Given the description of an element on the screen output the (x, y) to click on. 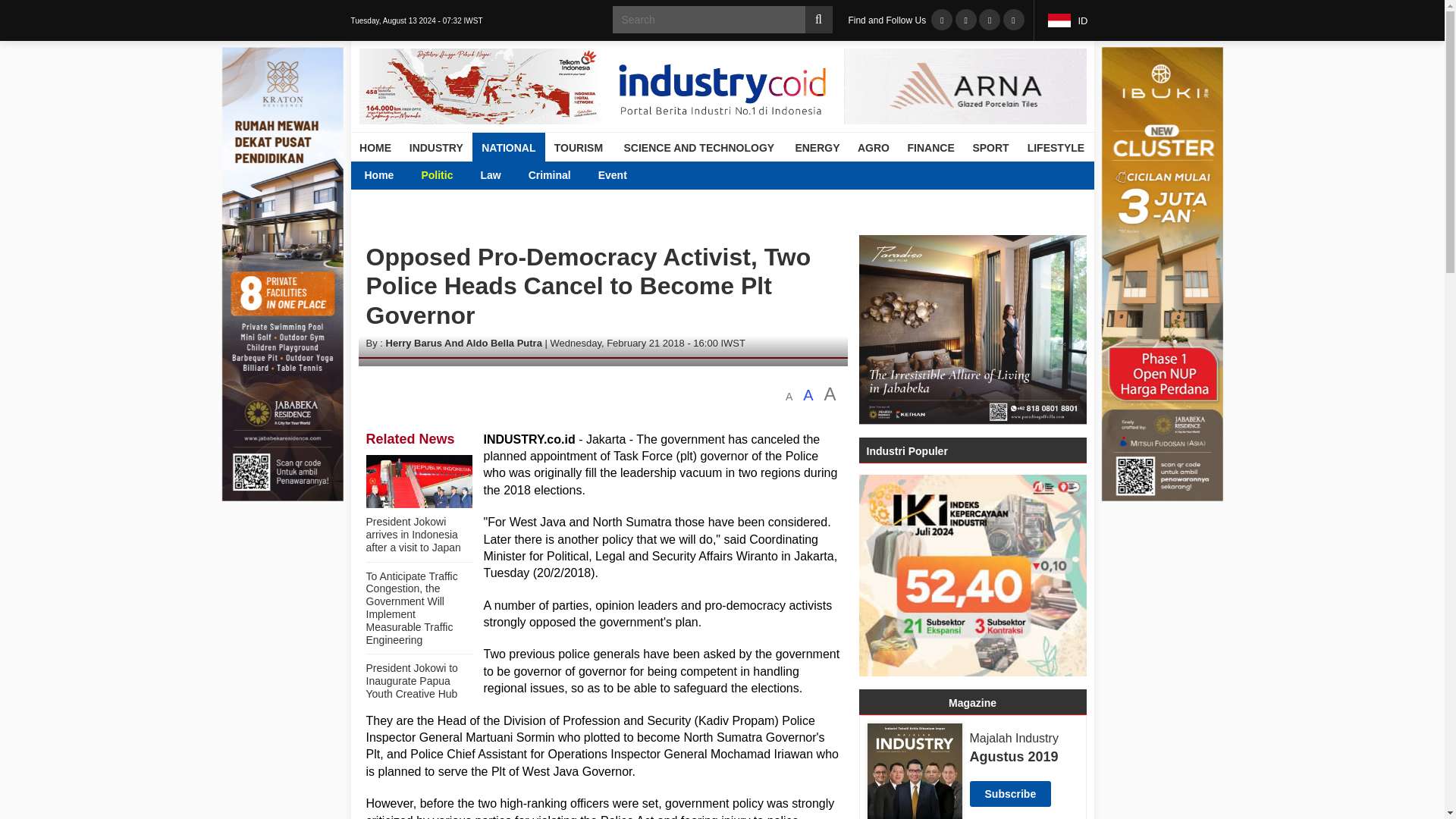
INDUSTRY (435, 147)
Automotive (450, 175)
SCIENCE AND TECHNOLOGY (698, 147)
TOURISM (577, 147)
HOME (374, 147)
Politic (436, 175)
Hotel (524, 175)
NATIONAL (507, 147)
Maritime (665, 175)
